Given the description of an element on the screen output the (x, y) to click on. 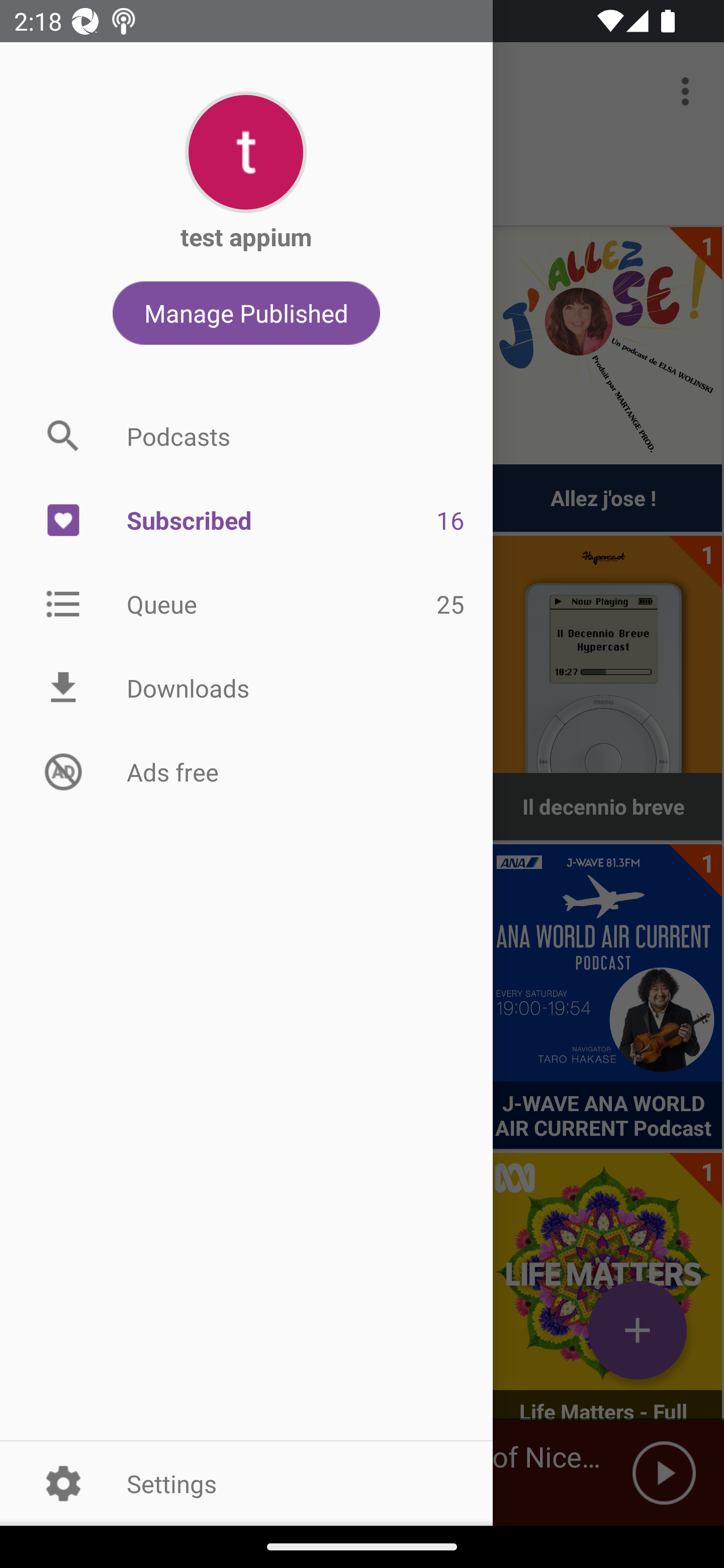
Manage Published (246, 312)
Picture Podcasts (246, 435)
Picture Subscribed 16 (246, 520)
Picture Queue 25 (246, 603)
Picture Downloads (246, 688)
Picture Ads free (246, 771)
Settings Picture Settings (246, 1482)
